Given the description of an element on the screen output the (x, y) to click on. 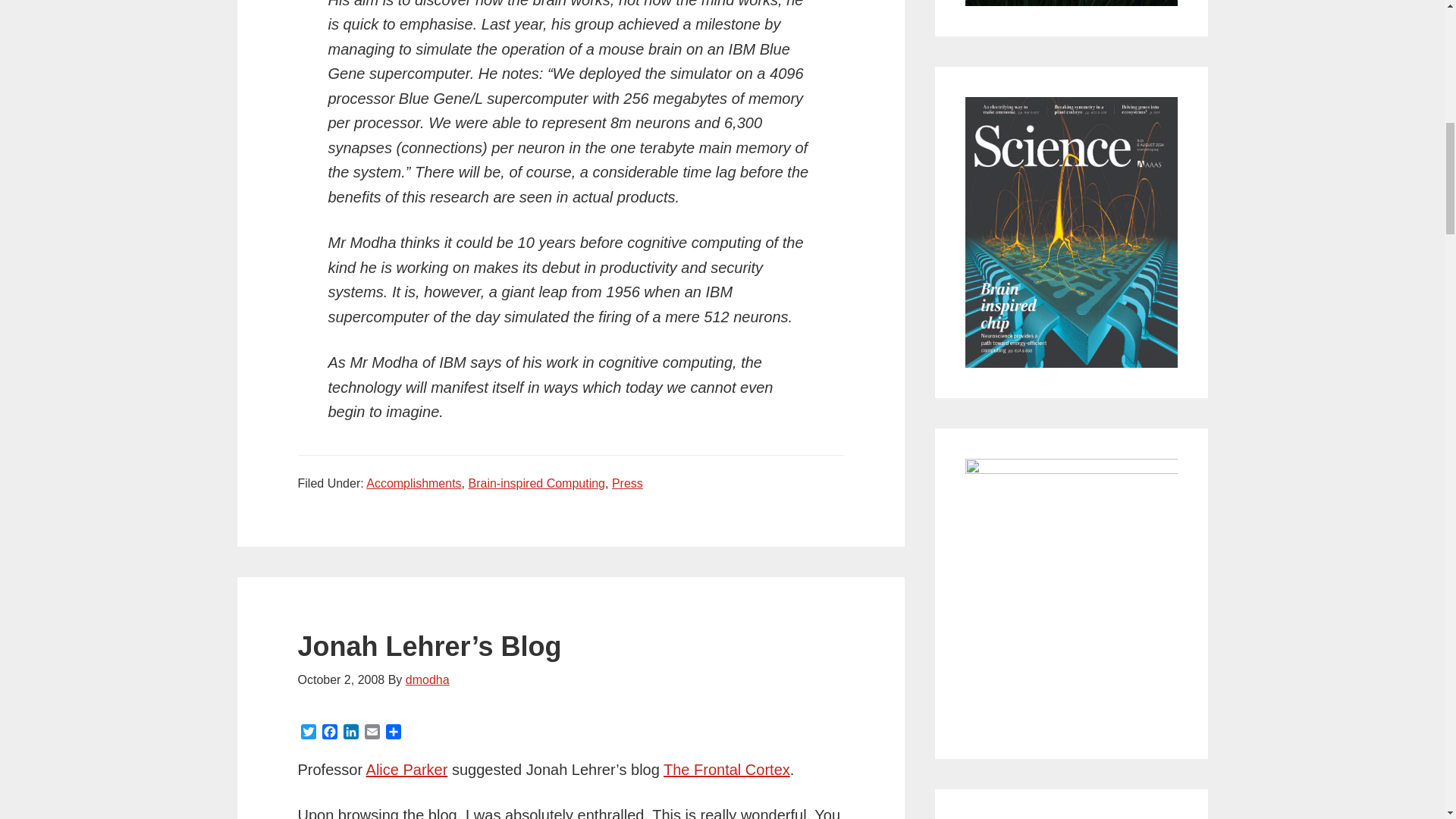
Facebook (328, 732)
Brain-inspired Computing (536, 482)
Email (371, 732)
LinkedIn (350, 732)
Alice Parker (407, 769)
Accomplishments (413, 482)
LinkedIn (350, 732)
Twitter (307, 732)
Email (371, 732)
Twitter (307, 732)
Press (627, 482)
Jonah Lehrer (726, 769)
dmodha (427, 679)
Facebook (328, 732)
